Given the description of an element on the screen output the (x, y) to click on. 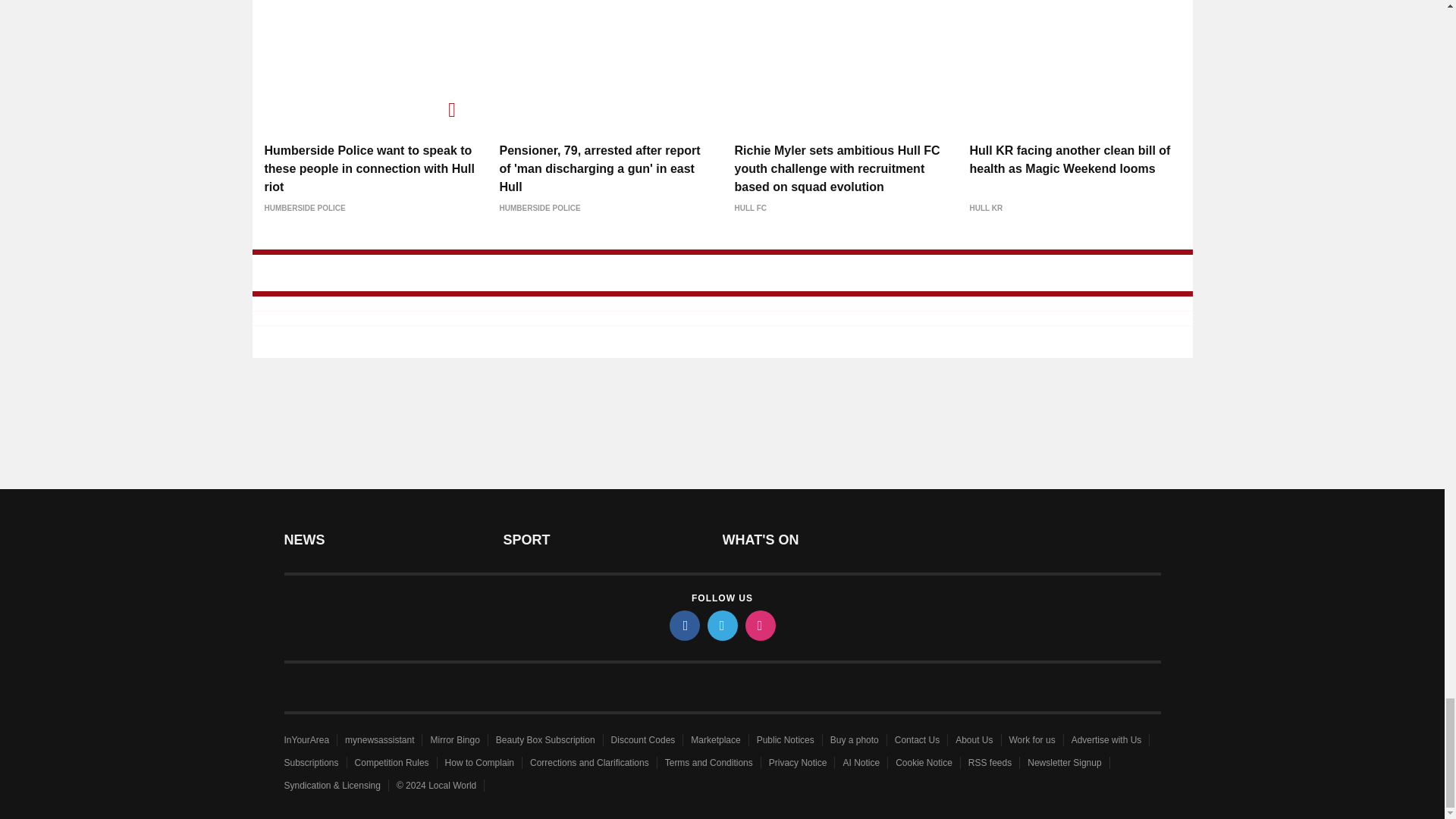
instagram (759, 625)
twitter (721, 625)
facebook (683, 625)
